Given the description of an element on the screen output the (x, y) to click on. 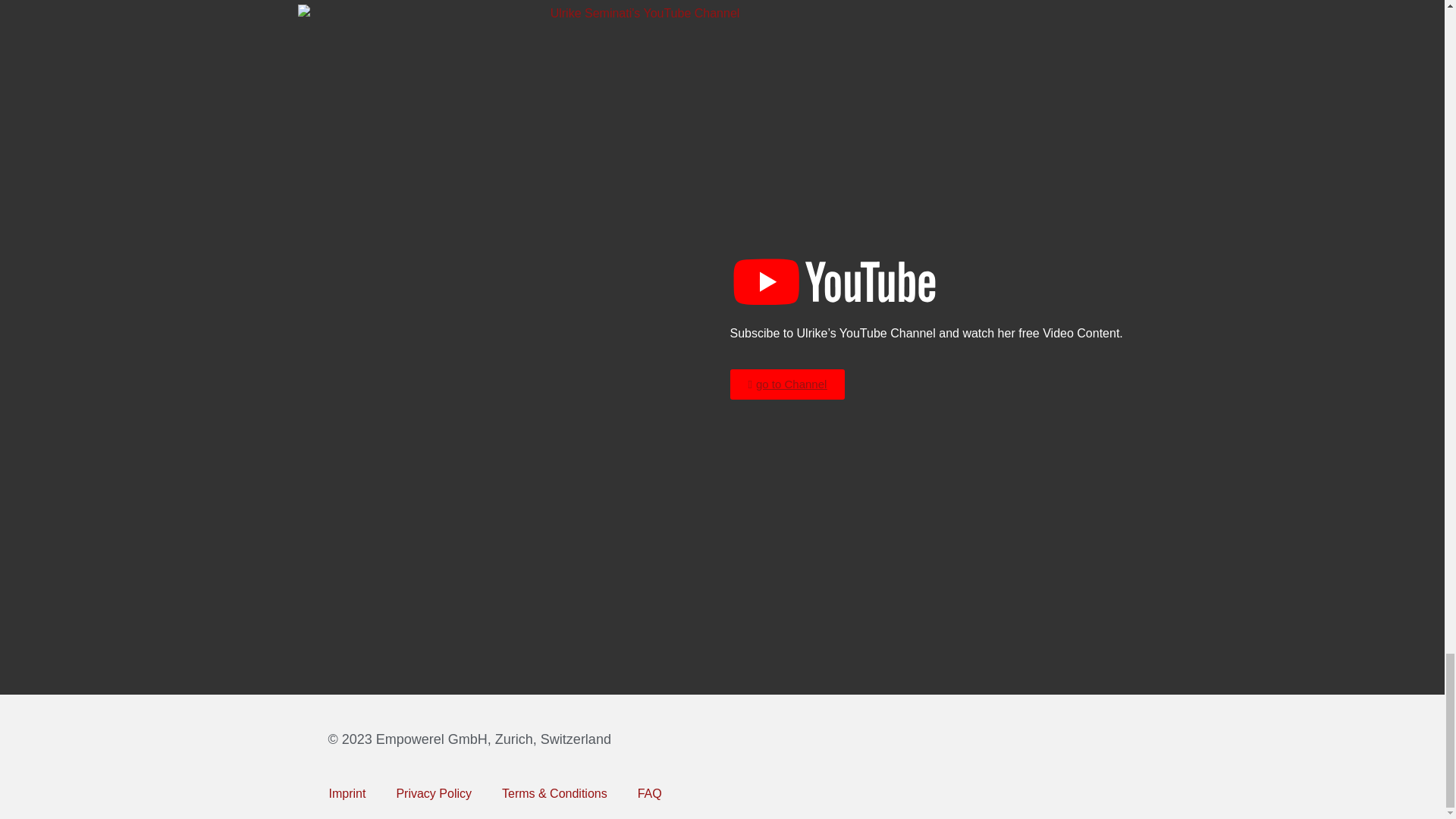
go to Channel (786, 384)
Privacy Policy (433, 793)
Imprint (347, 793)
FAQ (650, 793)
